Given the description of an element on the screen output the (x, y) to click on. 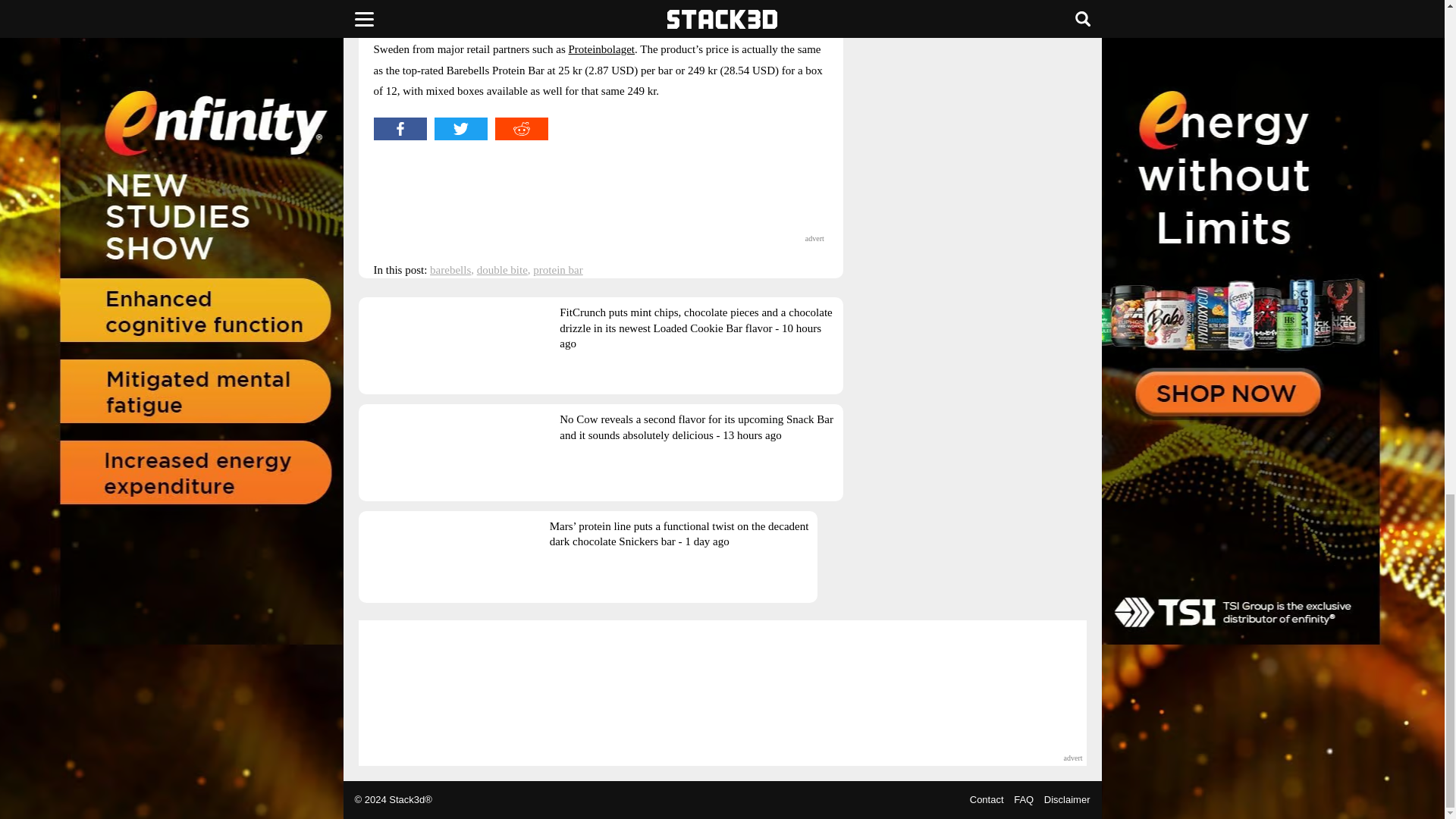
Proteinbolaget (601, 49)
barebells (449, 269)
